Given the description of an element on the screen output the (x, y) to click on. 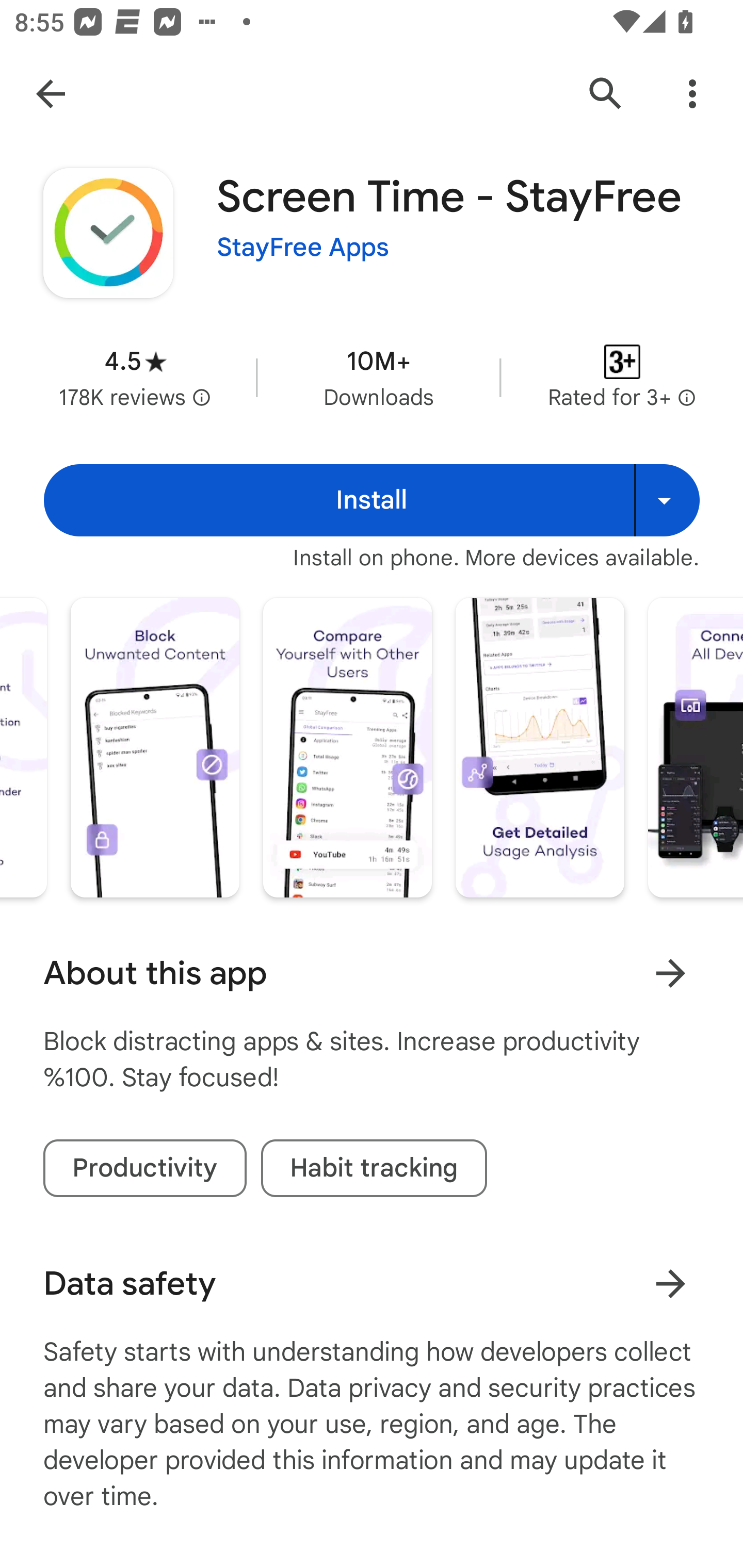
Navigate up (50, 93)
Search Google Play (605, 93)
More Options (692, 93)
StayFree Apps (302, 247)
Average rating 4.5 stars in 178 thousand reviews (135, 377)
Content rating Rated for 3+ (622, 377)
Install Install Install on more devices (371, 500)
Install on more devices (667, 500)
Screenshot "4" of "7" (154, 746)
Screenshot "5" of "7" (347, 746)
Screenshot "6" of "7" (539, 746)
About this app Learn more About this app (371, 972)
Learn more About this app (670, 972)
Productivity tag (144, 1168)
Habit tracking tag (373, 1168)
Data safety Learn more about data safety (371, 1284)
Learn more about data safety (670, 1283)
